Given the description of an element on the screen output the (x, y) to click on. 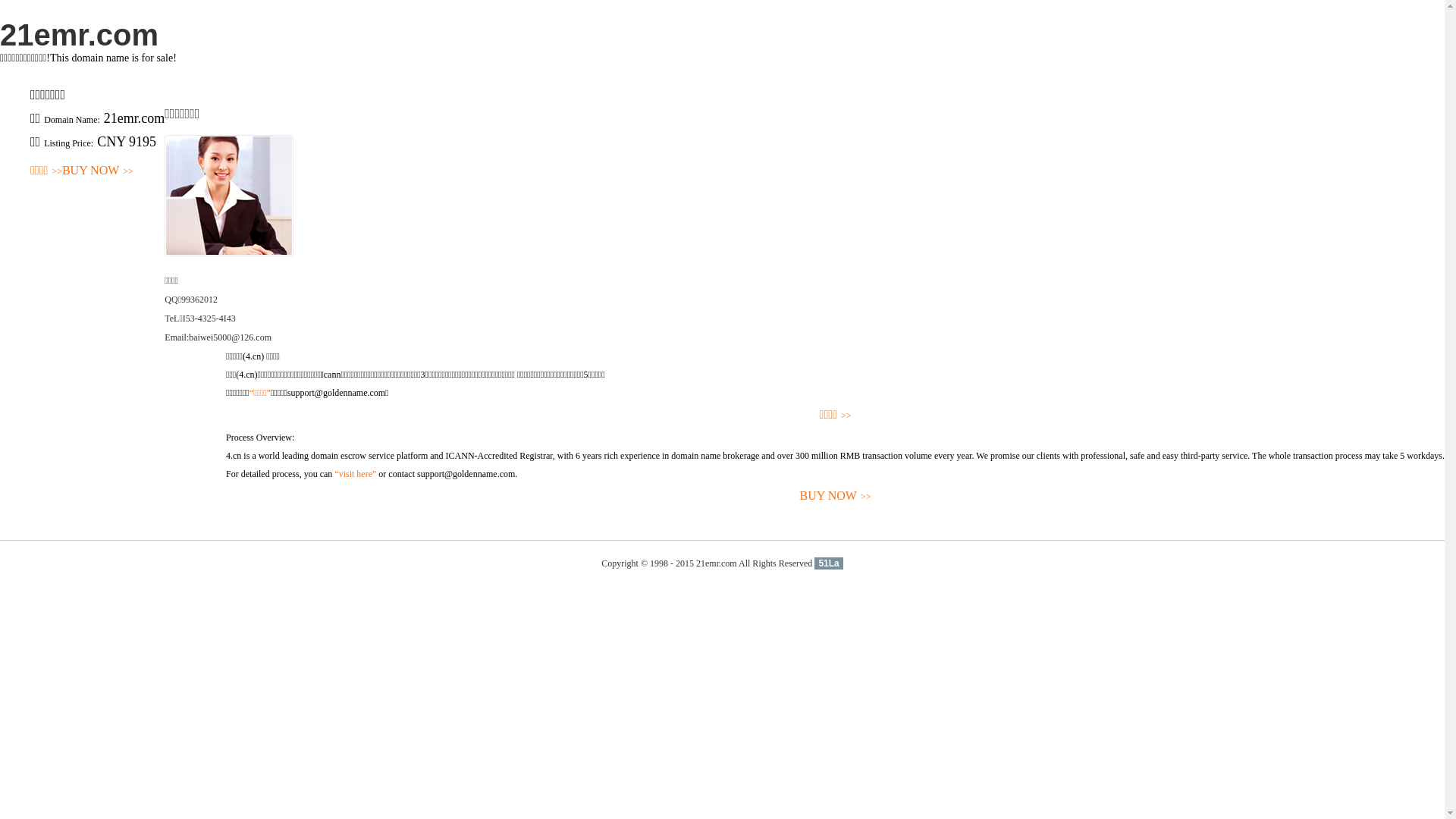
51La Element type: text (828, 563)
BUY NOW>> Element type: text (834, 496)
BUY NOW>> Element type: text (97, 170)
